Given the description of an element on the screen output the (x, y) to click on. 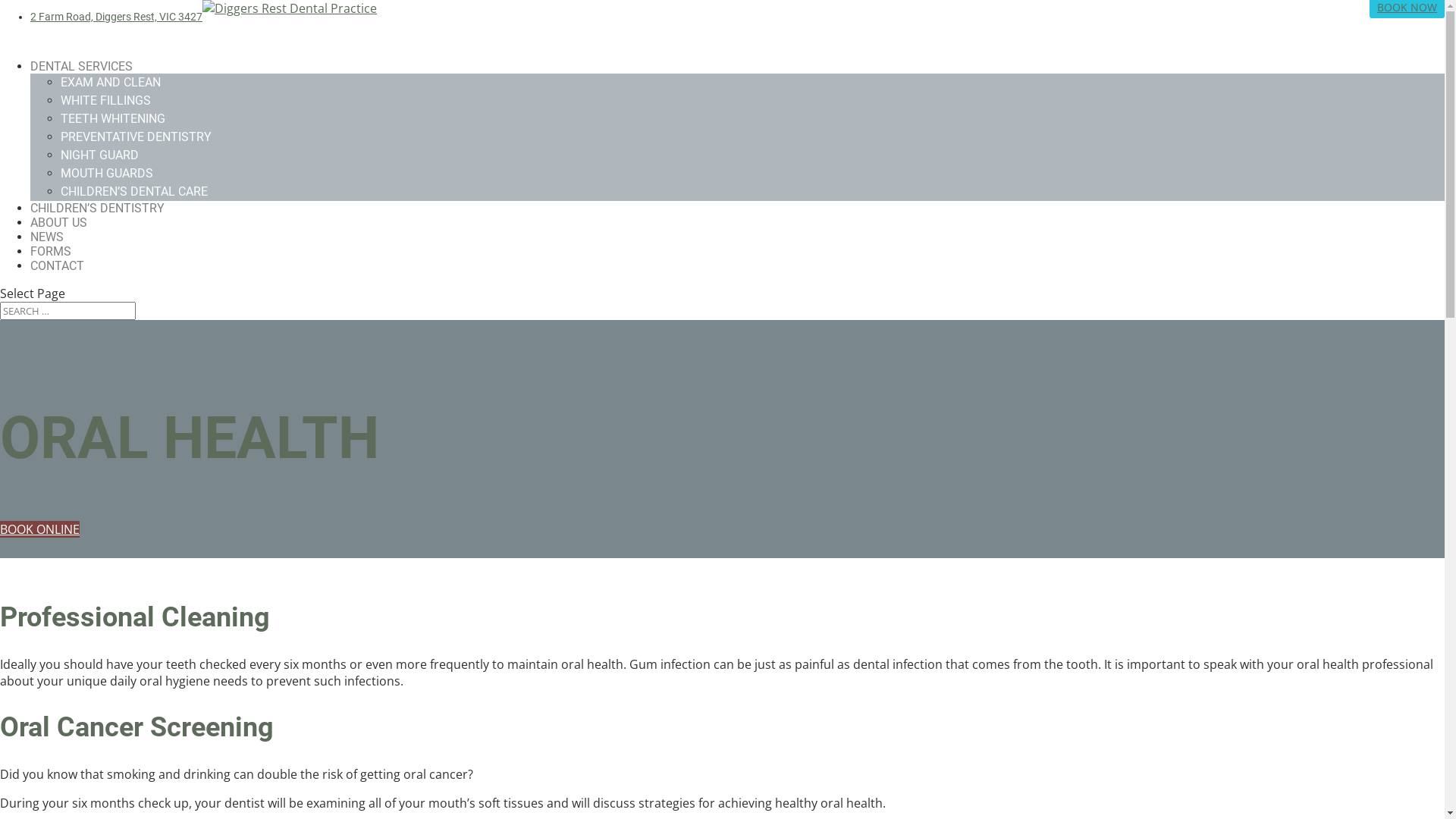
FORMS Element type: text (50, 266)
WHITE FILLINGS Element type: text (105, 100)
BOOK ONLINE Element type: text (39, 528)
TEETH WHITENING Element type: text (112, 118)
ABOUT US Element type: text (58, 237)
NEWS Element type: text (46, 251)
PREVENTATIVE DENTISTRY Element type: text (135, 136)
MOUTH GUARDS Element type: text (106, 173)
NIGHT GUARD Element type: text (99, 154)
DENTAL SERVICES Element type: text (81, 81)
(03) 9012 7303 Element type: text (1330, 7)
2 Farm Road, Diggers Rest, VIC 3427 Element type: text (116, 14)
CONTACT Element type: text (57, 280)
BOOK NOW Element type: text (1407, 7)
EXAM AND CLEAN Element type: text (110, 82)
Search for: Element type: hover (67, 310)
